Given the description of an element on the screen output the (x, y) to click on. 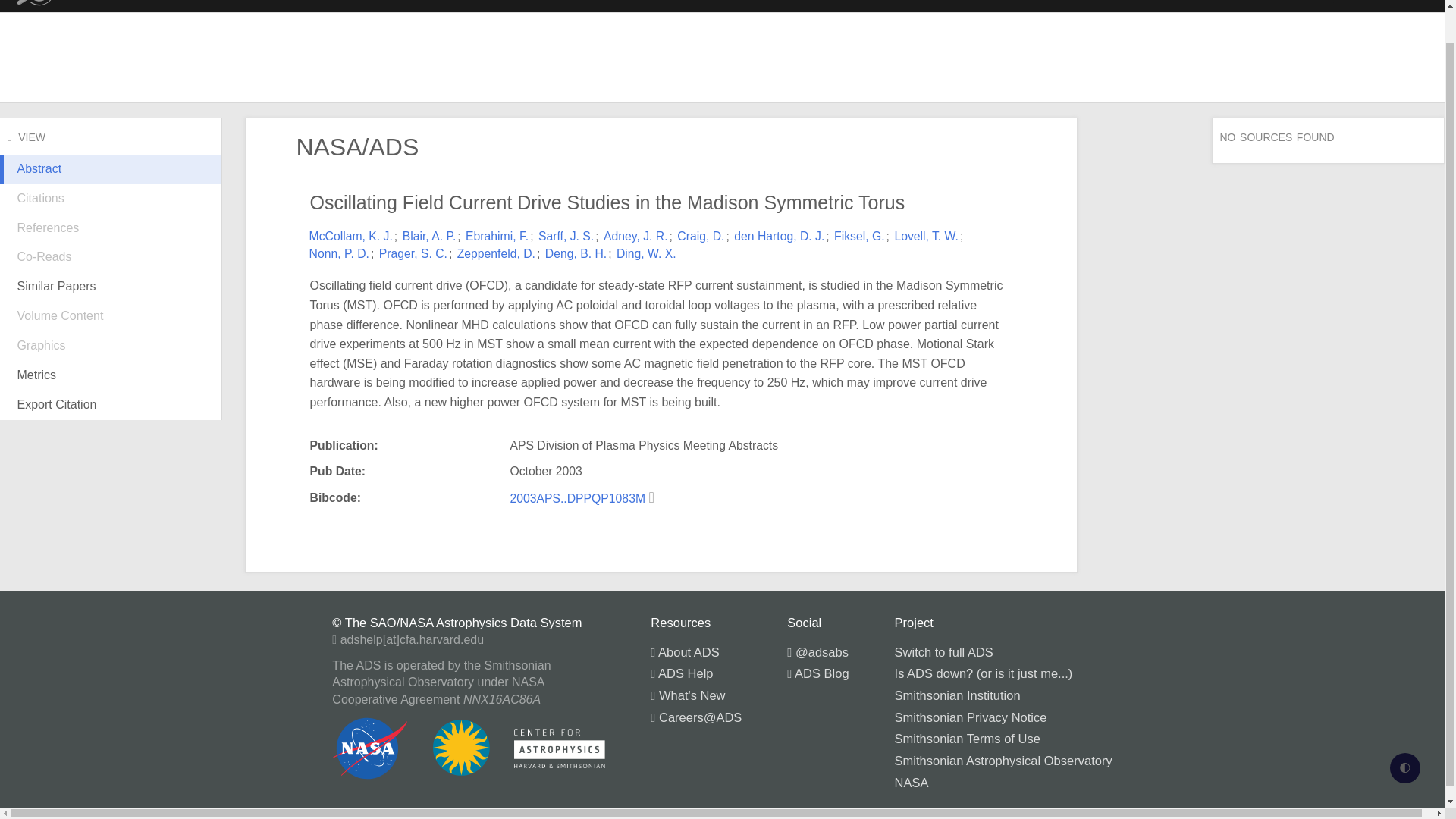
den Hartog, D. J. (778, 236)
Zeppenfeld, D. (496, 253)
Enable full ADS (1388, 2)
Blair, A. P. (430, 236)
ads (51, 5)
Adney, J. R. (636, 236)
Prager, S. C. (412, 253)
Turn on dark mode (1405, 733)
Abstract (110, 181)
Smithsonian Privacy Notice (970, 716)
Similar Papers (110, 286)
2003APS..DPPQP1083M (578, 498)
Export Citation (110, 405)
ADS Help (681, 673)
Ding, W. X. (646, 253)
